Given the description of an element on the screen output the (x, y) to click on. 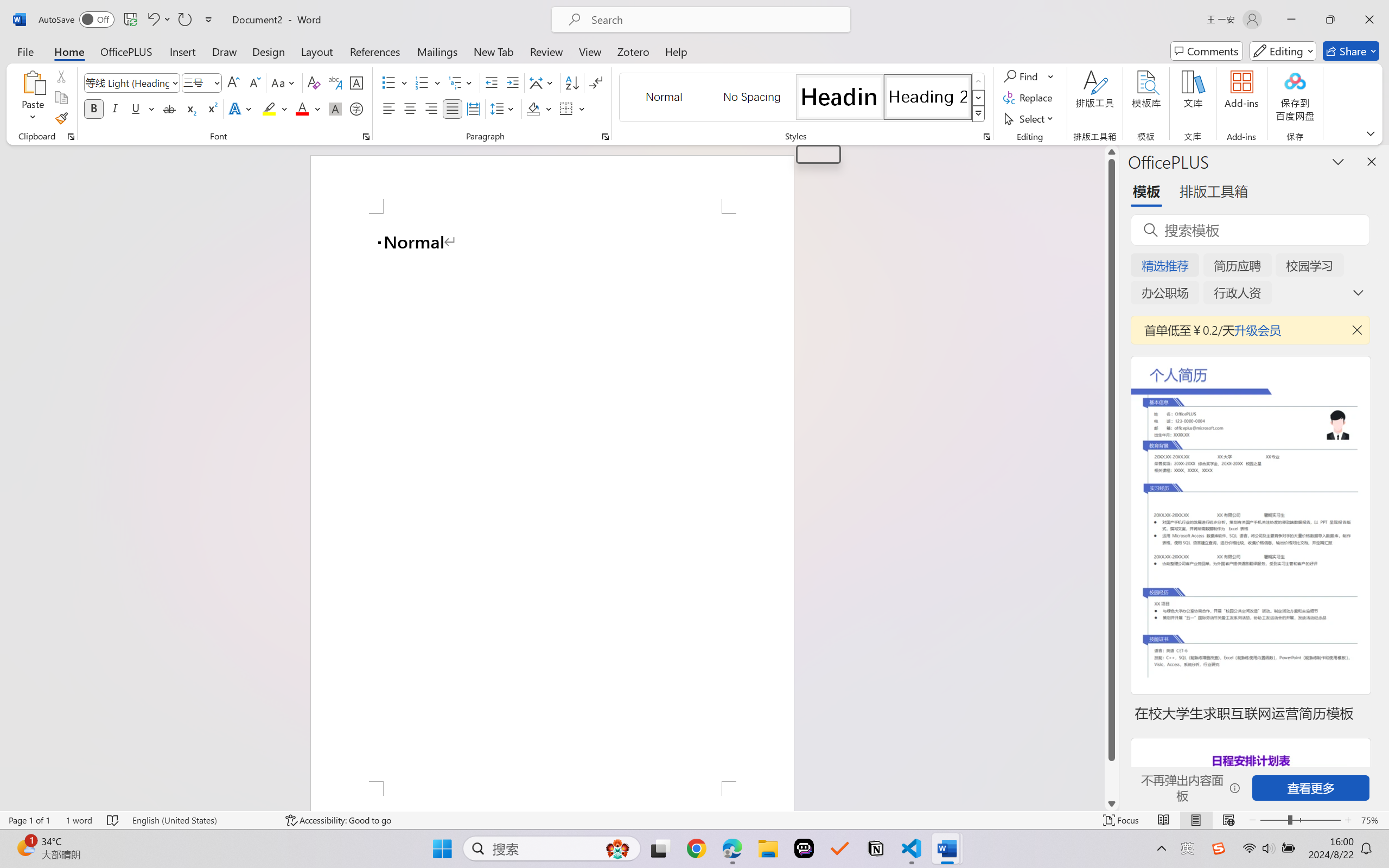
Minimize (1291, 19)
Grow Font (233, 82)
Repeat Doc Close (184, 19)
Word Count 1 word (78, 819)
Row up (978, 81)
Mode (1283, 50)
Font (132, 82)
AutomationID: DynamicSearchBoxGleamImage (617, 848)
Close (1369, 19)
Customize Quick Access Toolbar (208, 19)
Align Left (388, 108)
Web Layout (1228, 819)
